Given the description of an element on the screen output the (x, y) to click on. 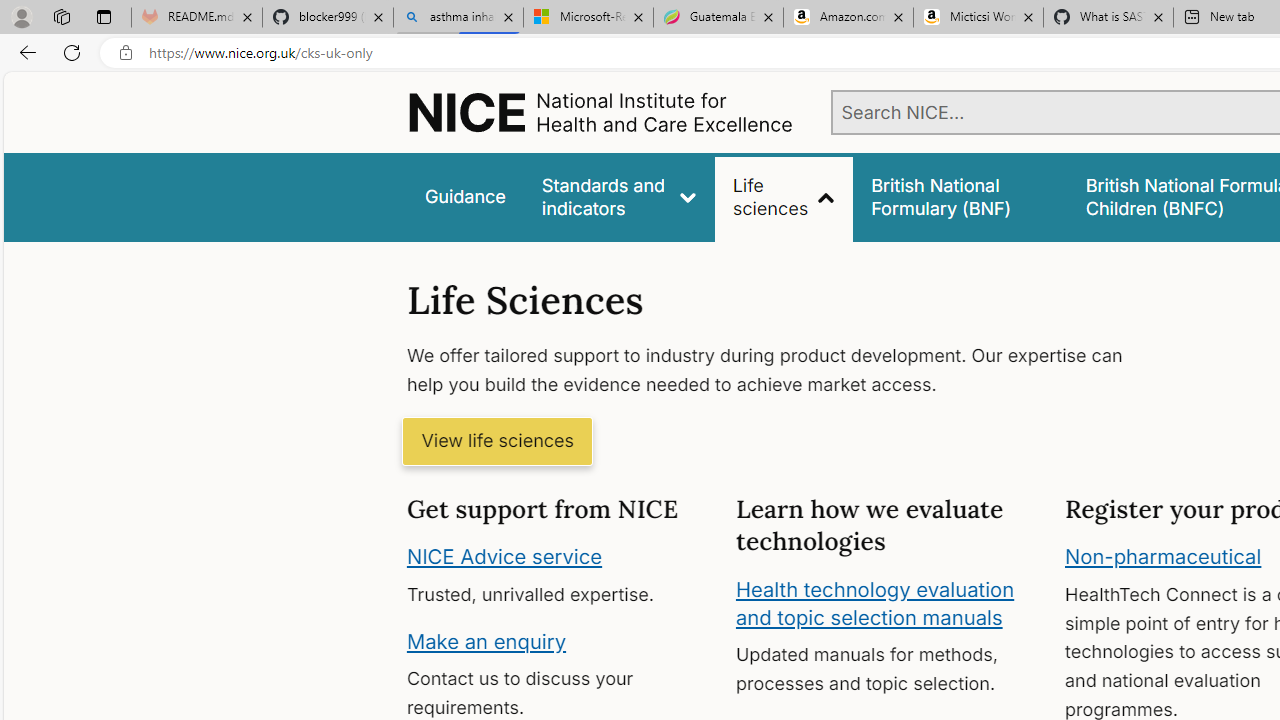
Non-pharmaceutical (1163, 557)
Health technology evaluation and topic selection manuals (874, 603)
View life sciences (497, 441)
